Given the description of an element on the screen output the (x, y) to click on. 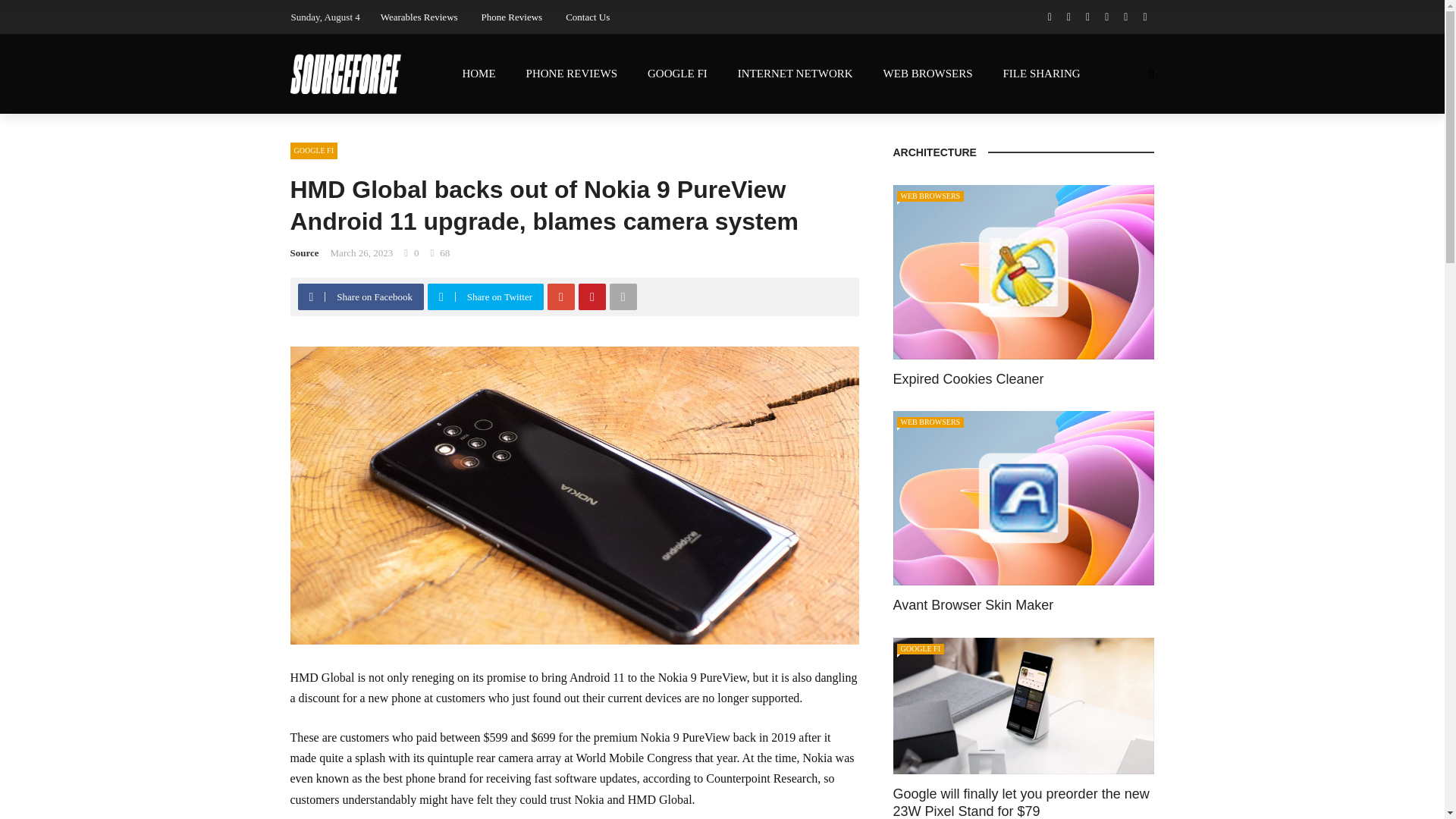
INTERNET NETWORK (794, 73)
PHONE REVIEWS (571, 73)
GOOGLE FI (676, 73)
Wearables Reviews (419, 16)
WEB BROWSERS (927, 73)
Contact Us (588, 16)
Phone Reviews (512, 16)
FILE SHARING (1040, 73)
